Given the description of an element on the screen output the (x, y) to click on. 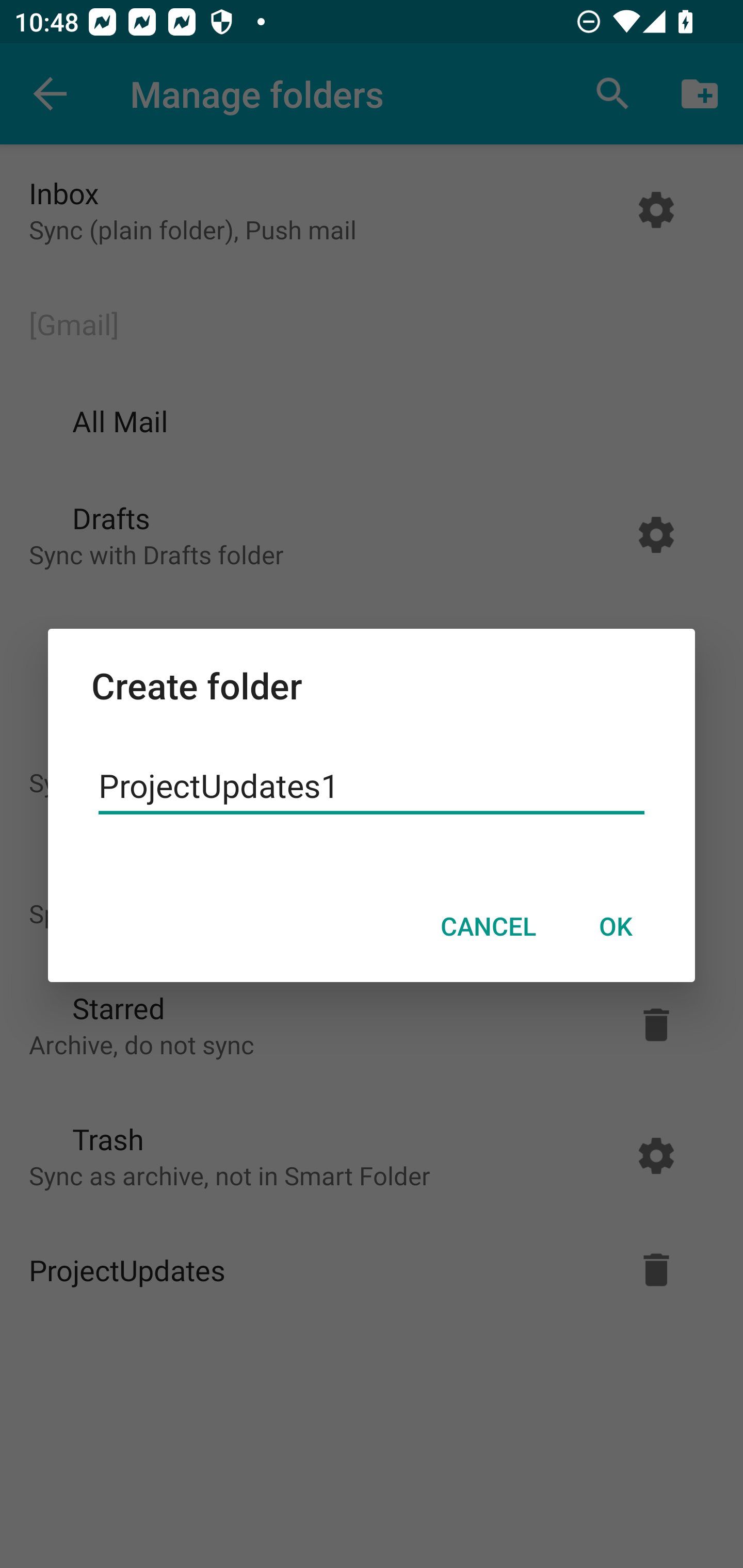
ProjectUpdates1 (371, 785)
CANCEL (488, 926)
OK (615, 926)
